Given the description of an element on the screen output the (x, y) to click on. 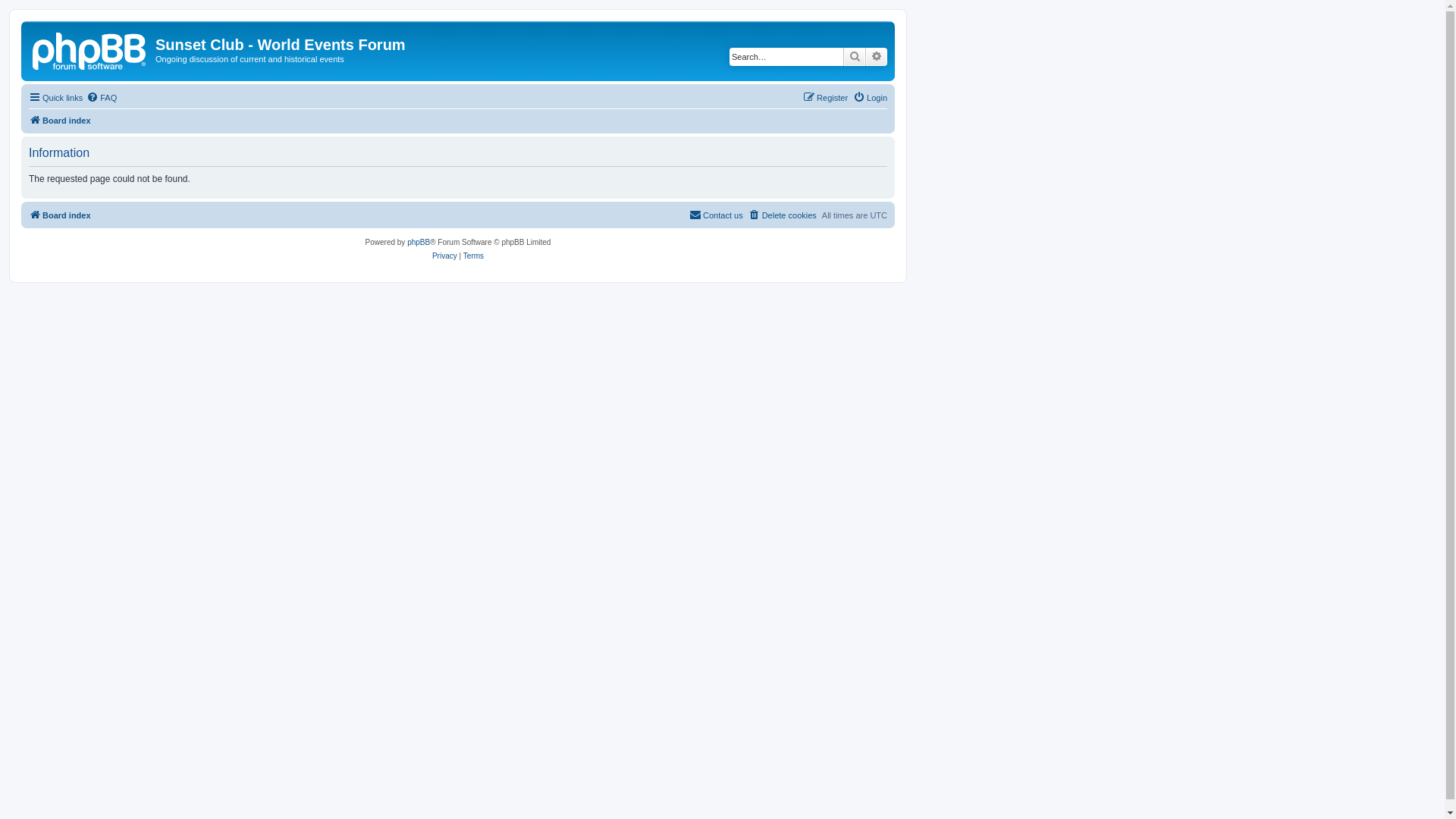
Contact us Element type: text (716, 215)
Board index Element type: hover (90, 49)
Search for keywords Element type: hover (786, 56)
Register Element type: text (825, 97)
Quick links Element type: text (55, 97)
Terms Element type: text (473, 256)
FAQ Element type: text (101, 97)
Search Element type: text (854, 56)
Advanced search Element type: text (876, 56)
Login Element type: text (870, 97)
Privacy Element type: text (444, 256)
phpBB Element type: text (418, 242)
Board index Element type: text (59, 120)
Board index Element type: text (59, 215)
Delete cookies Element type: text (782, 215)
